Given the description of an element on the screen output the (x, y) to click on. 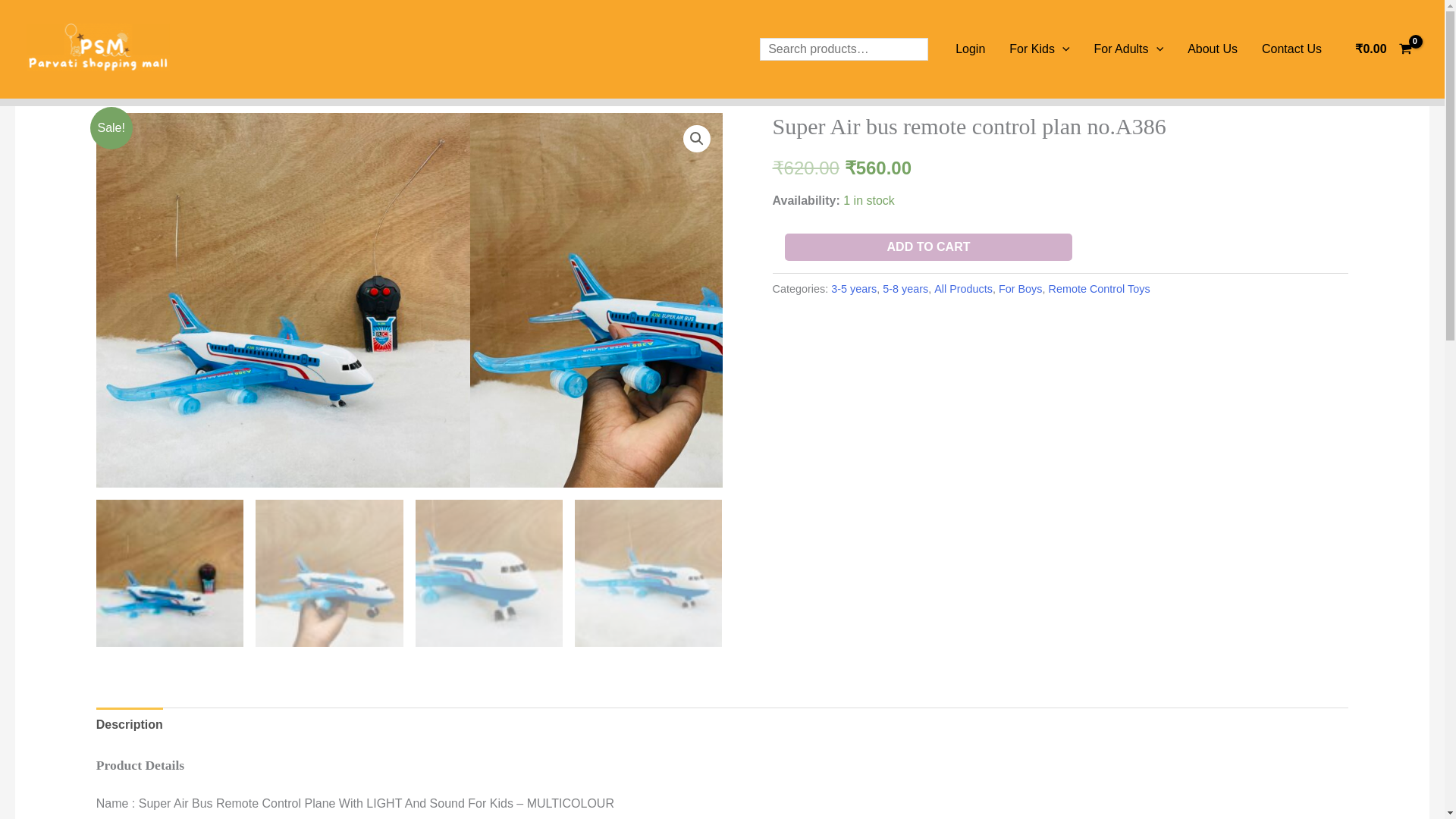
Login (970, 48)
For Kids (1039, 48)
For Adults (1127, 48)
Contact Us (1291, 48)
About Us (1211, 48)
